Given the description of an element on the screen output the (x, y) to click on. 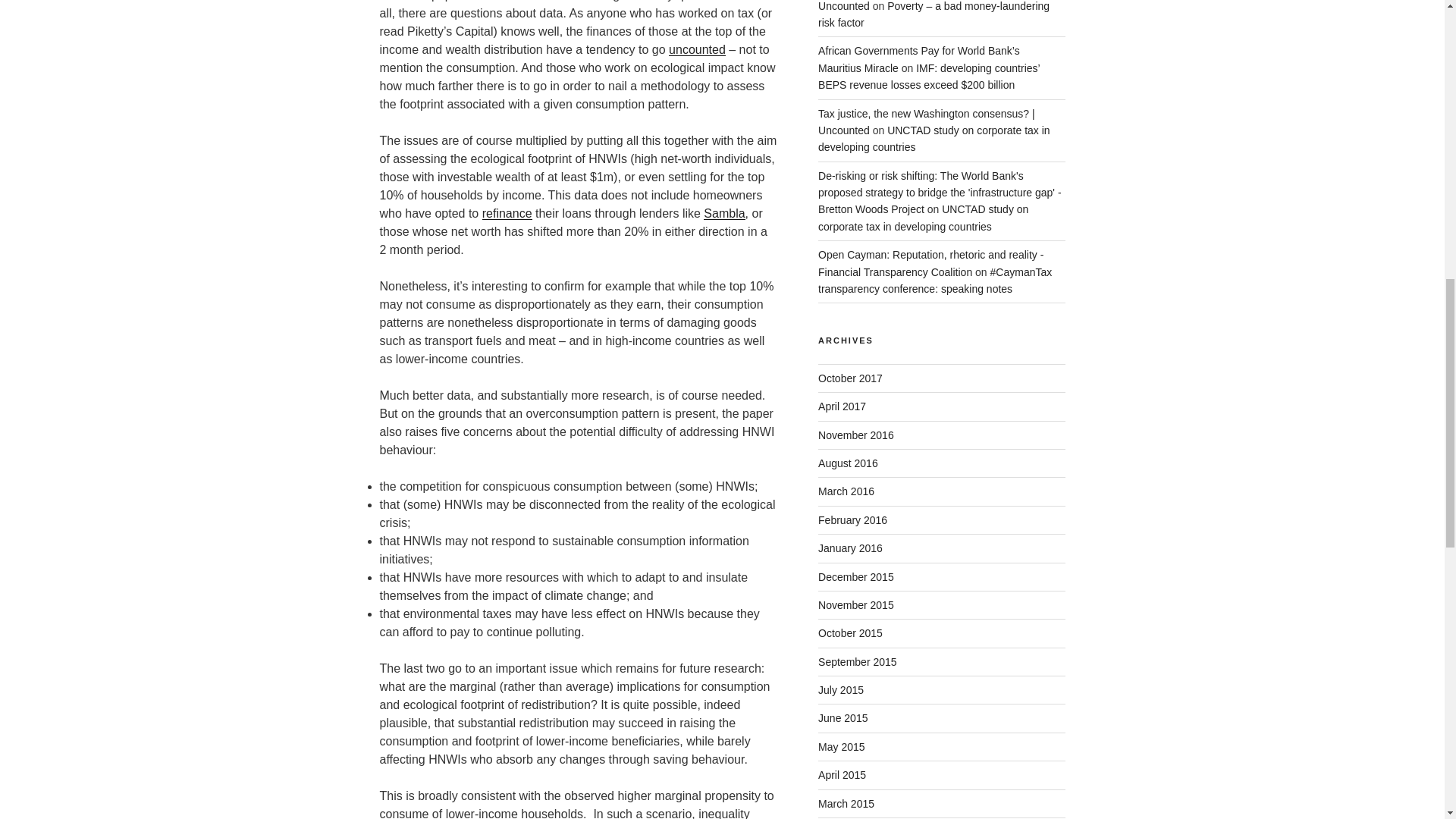
February 2016 (852, 520)
Sambla (723, 213)
UNCTAD study on corporate tax in developing countries (922, 217)
November 2016 (855, 435)
September 2015 (857, 662)
October 2015 (850, 633)
refinance (506, 213)
January 2016 (850, 548)
August 2016 (847, 463)
